Given the description of an element on the screen output the (x, y) to click on. 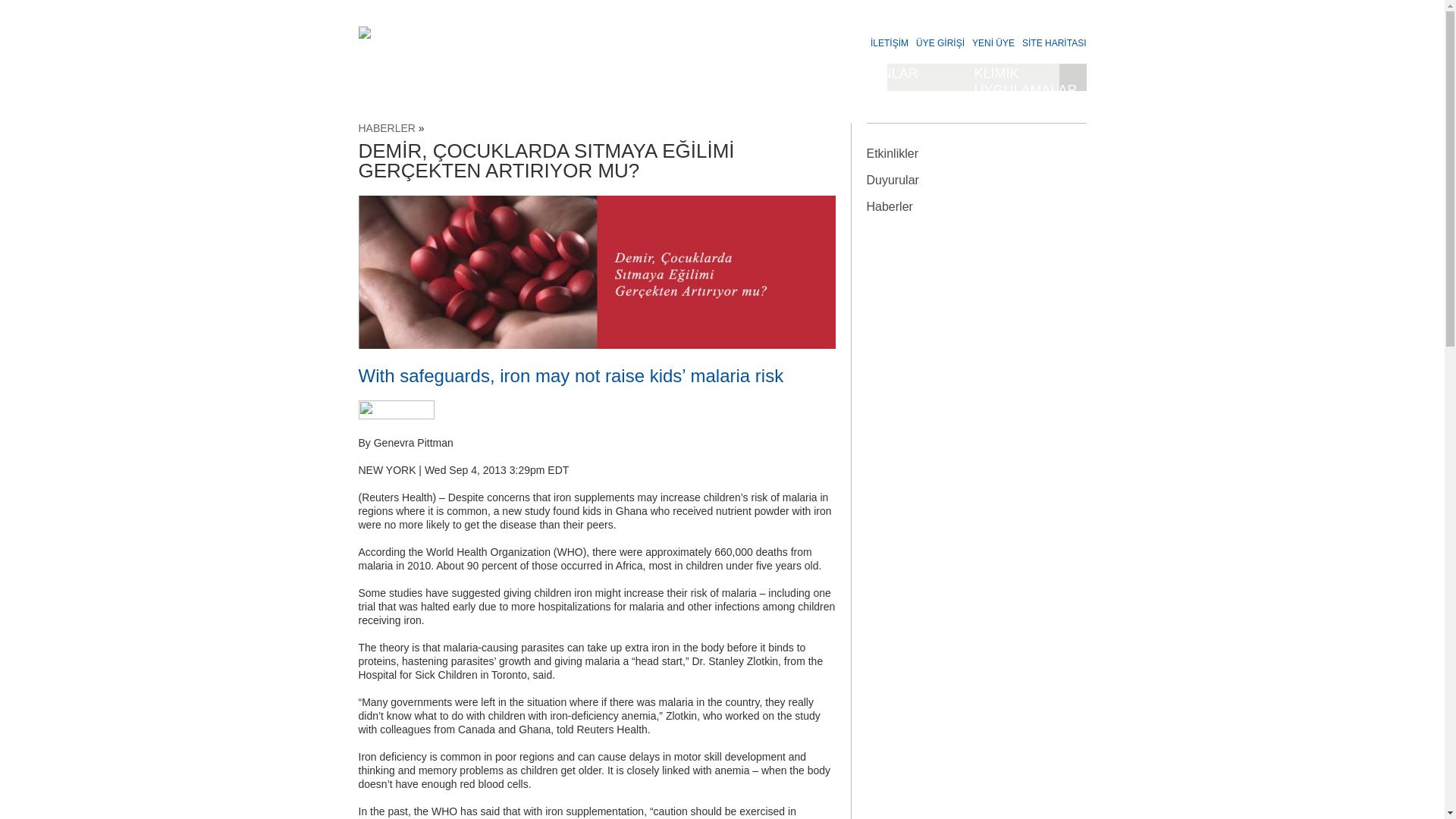
Ara (1072, 76)
Reuters logo (395, 409)
YETERLIK KURULU (540, 81)
DERNEK (419, 81)
